Given the description of an element on the screen output the (x, y) to click on. 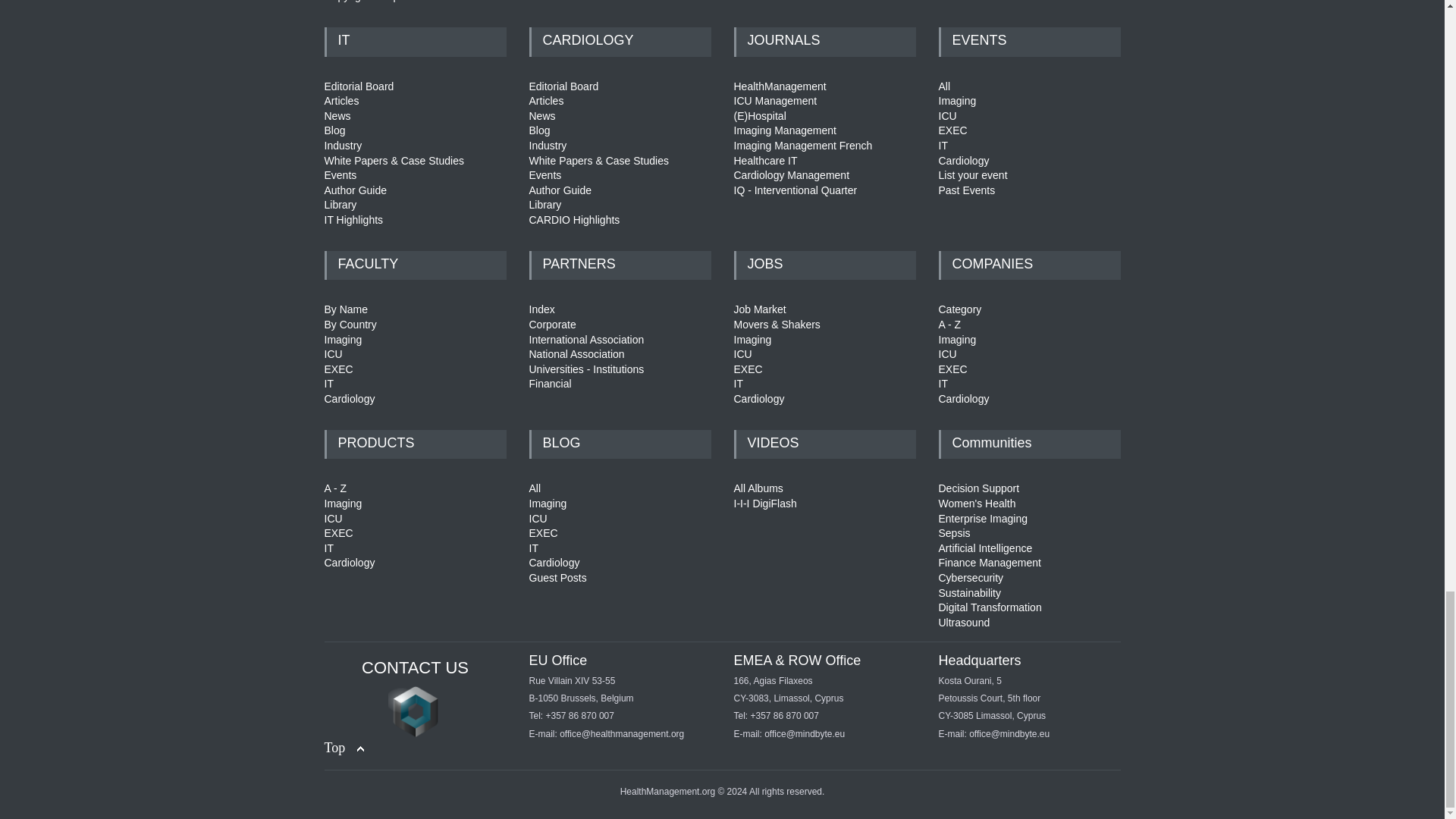
Top (344, 747)
